Given the description of an element on the screen output the (x, y) to click on. 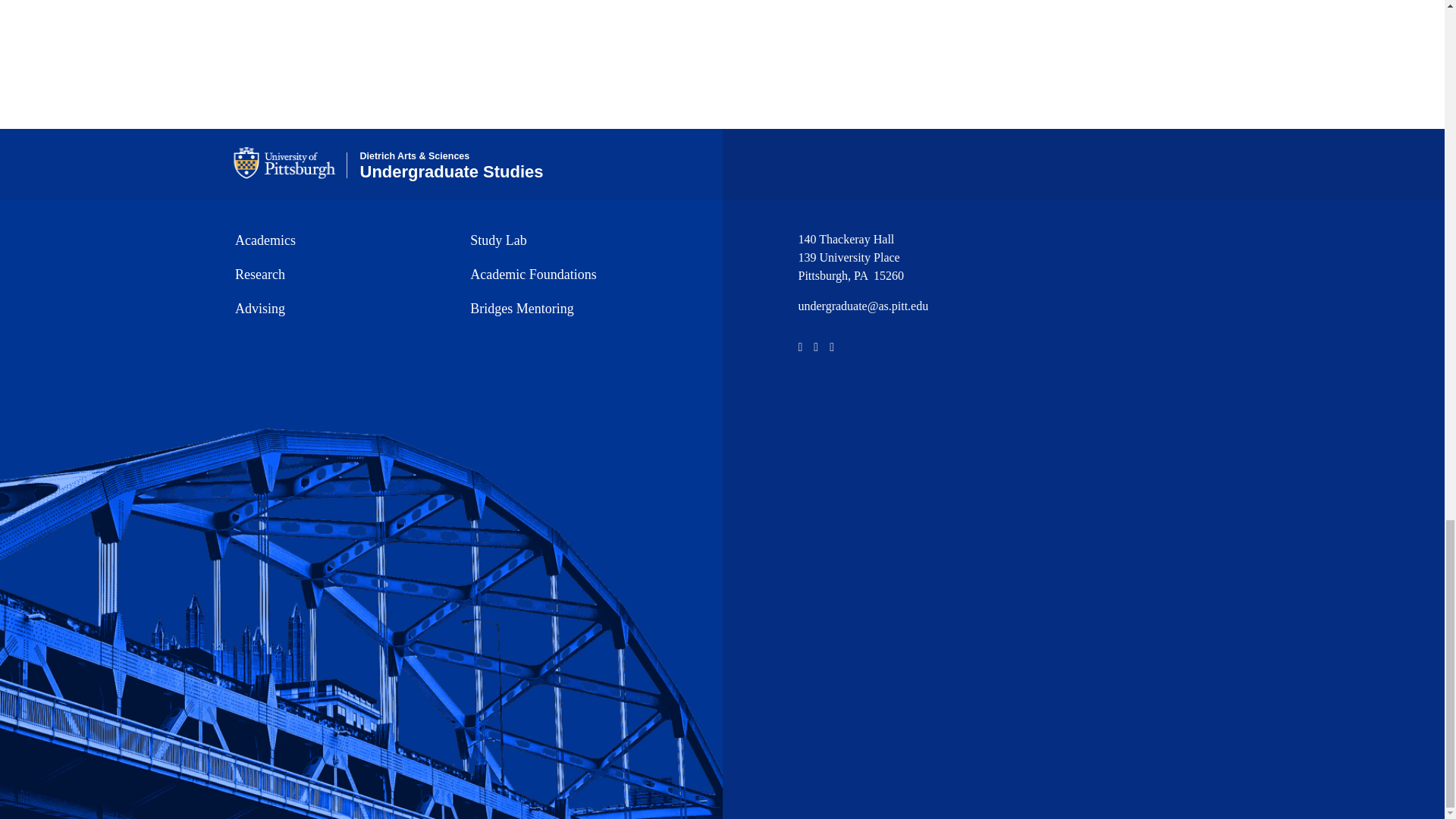
Bridges Mentoring (573, 308)
Academics (337, 240)
Advising (337, 308)
Study Lab (573, 240)
Research (337, 274)
Pitt Home (289, 163)
Bridges Mentoring (573, 308)
Study Lab (573, 240)
Academic Foundations (573, 274)
Advising (337, 308)
Home (451, 165)
